Given the description of an element on the screen output the (x, y) to click on. 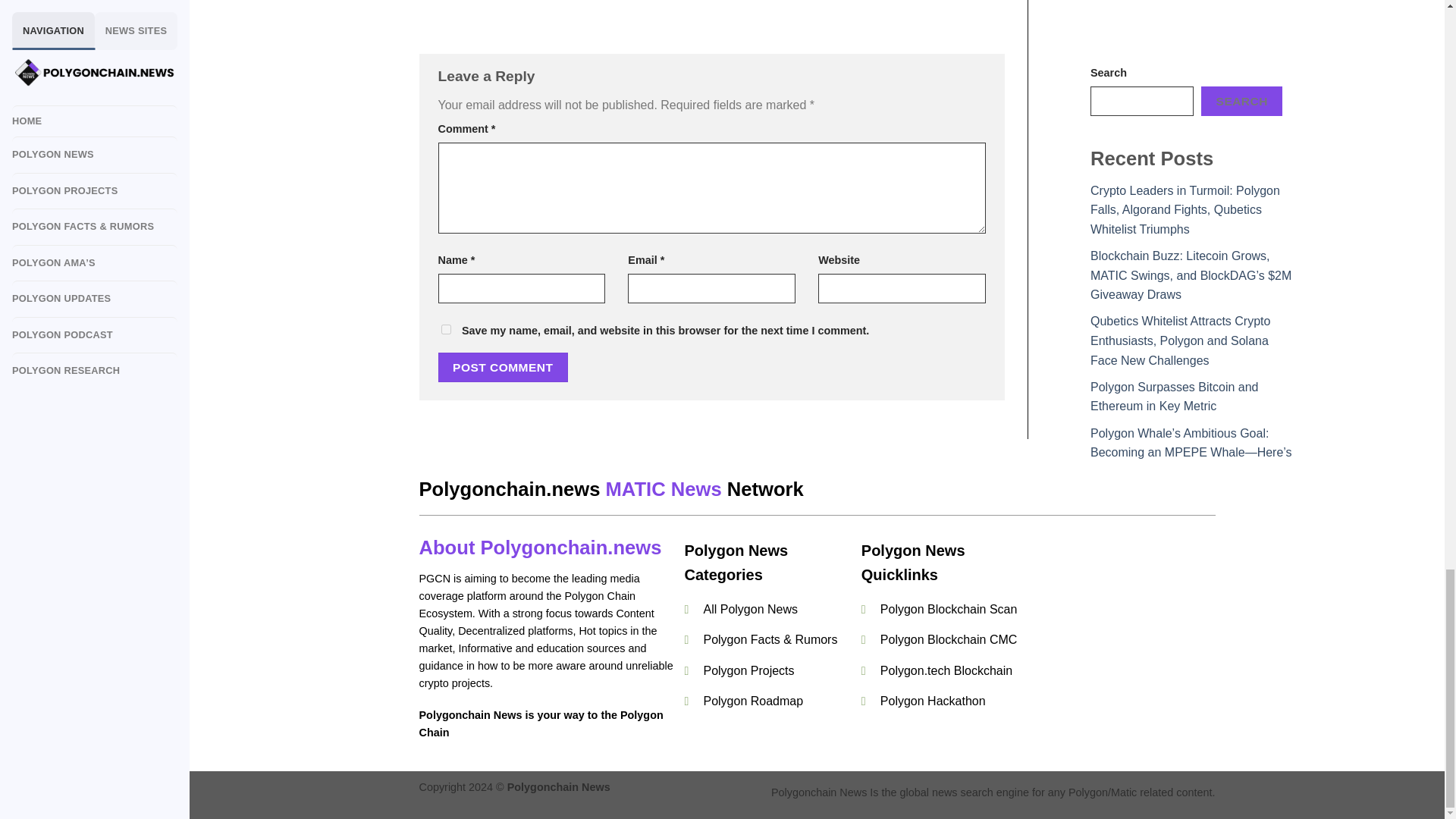
All Polygon News (750, 608)
yes (446, 329)
Polygon Roadmap  (754, 700)
Polygon Blockchain Scan (948, 608)
Polygon Projects (748, 670)
Post Comment (503, 367)
Post Comment (503, 367)
